Given the description of an element on the screen output the (x, y) to click on. 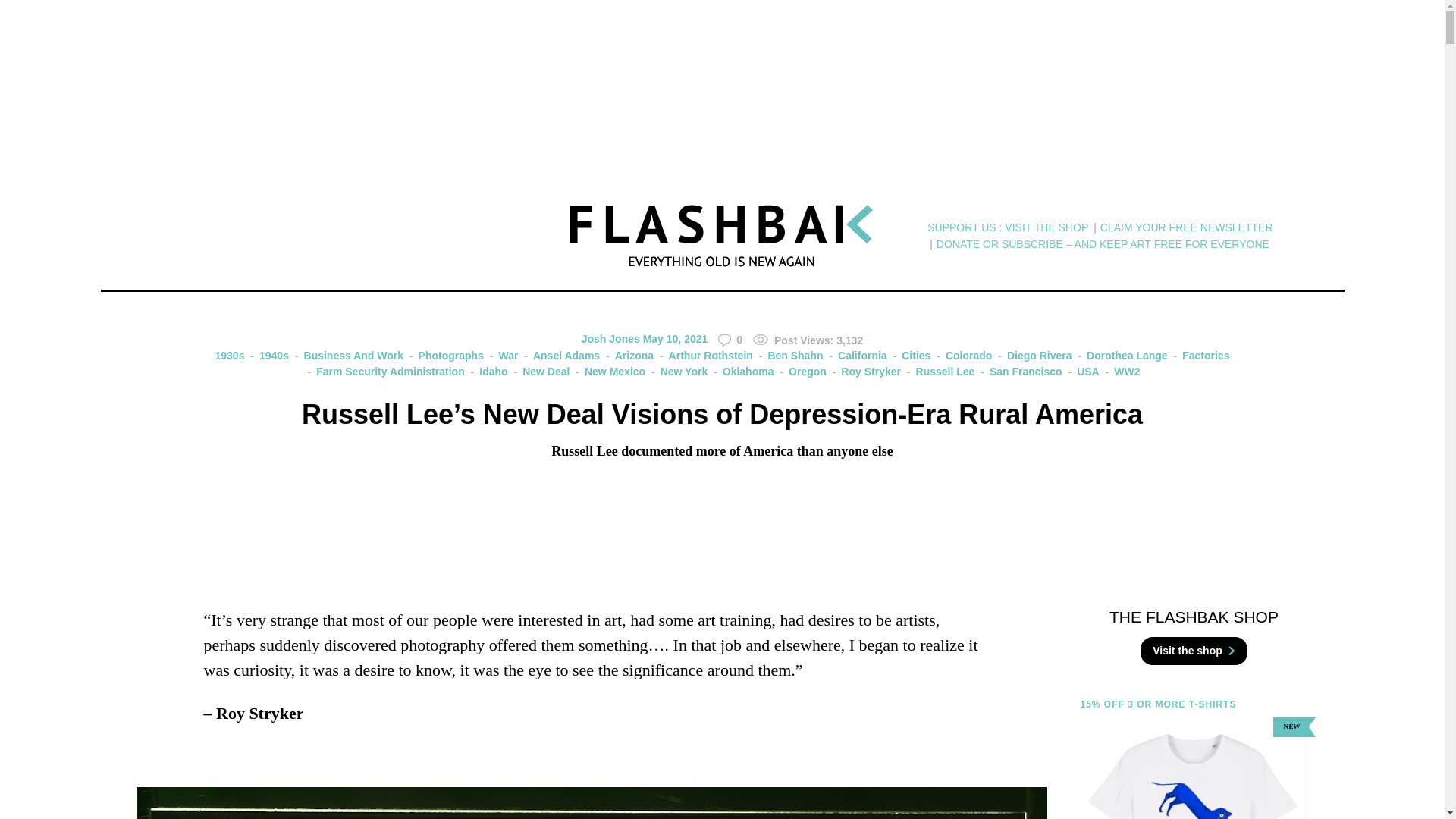
Josh Jones (610, 338)
Farm Security Administration (384, 371)
Business And Work (347, 355)
Ansel Adams (560, 355)
California (855, 355)
1940s (267, 355)
Dorothea Lange (1120, 355)
1930s (229, 355)
SUPPORT US : VISIT THE SHOP (1007, 227)
War (502, 355)
